Given the description of an element on the screen output the (x, y) to click on. 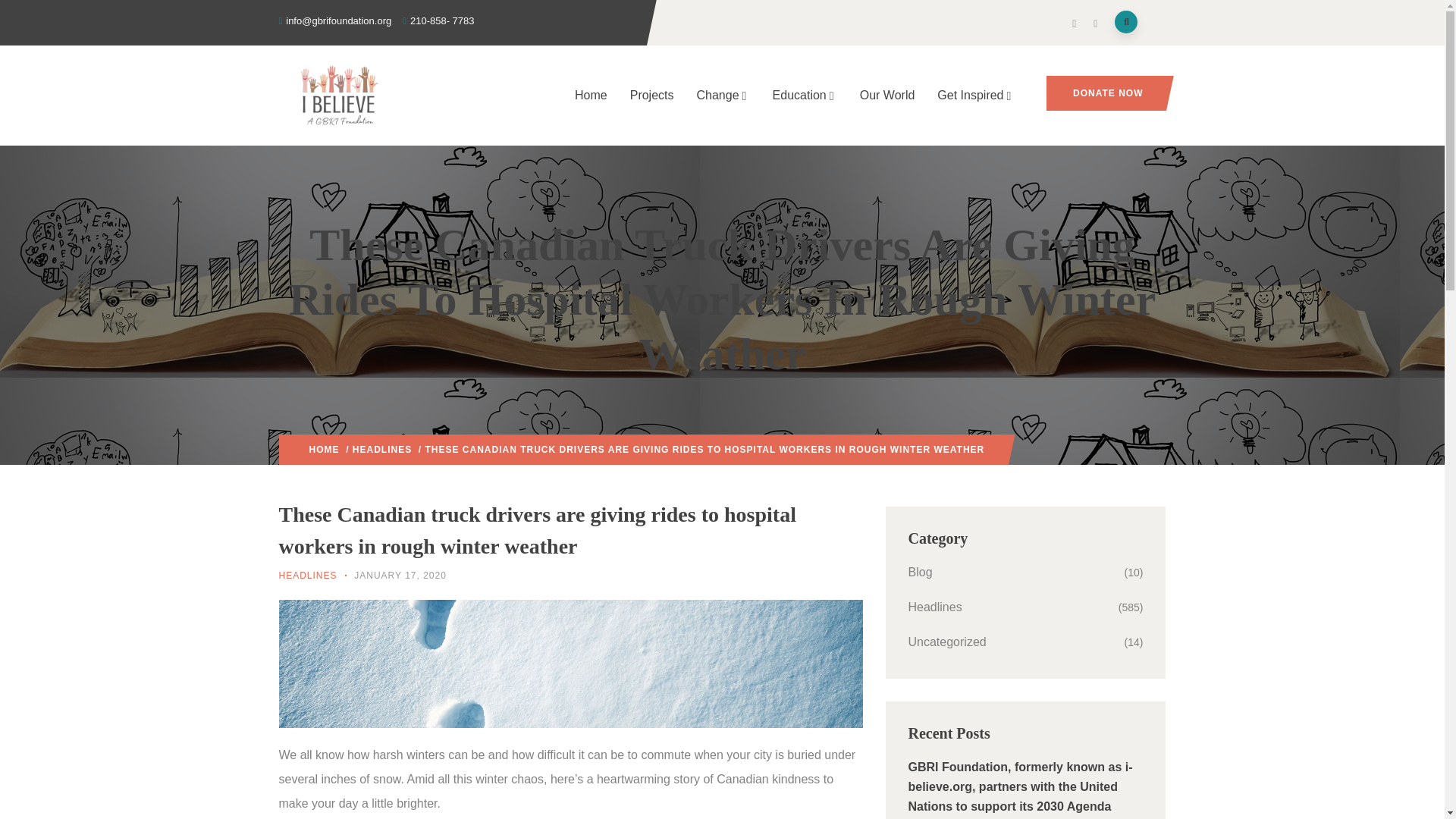
Home (590, 95)
HEADLINES (382, 449)
Projects (651, 95)
HOME (323, 449)
Change (723, 95)
JANUARY 17, 2020 (399, 575)
Education (804, 95)
DONATE NOW (1106, 93)
Get Inspired (975, 95)
Our World (887, 95)
